Given the description of an element on the screen output the (x, y) to click on. 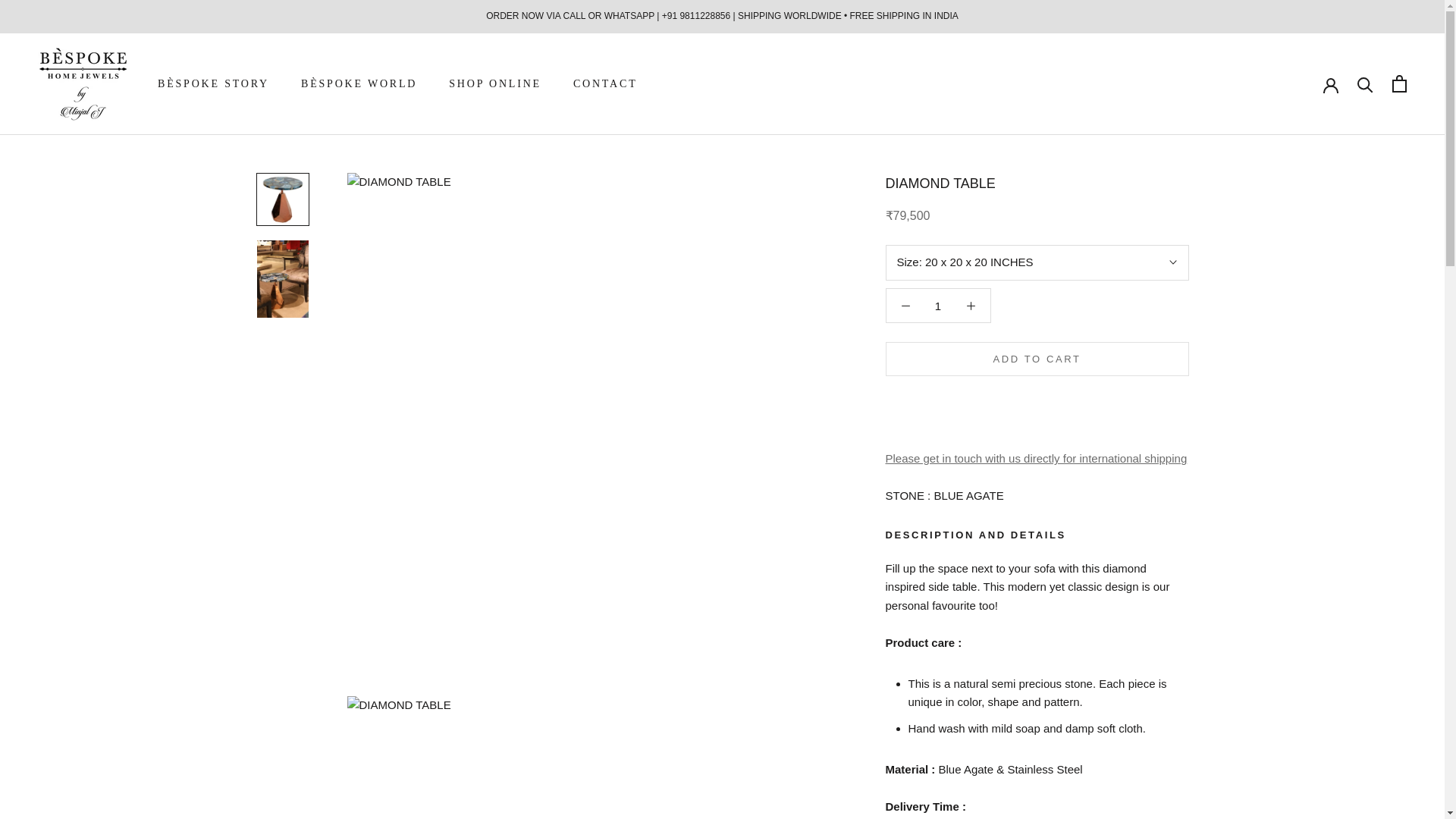
1 (938, 305)
SHOP ONLINE (494, 83)
